Given the description of an element on the screen output the (x, y) to click on. 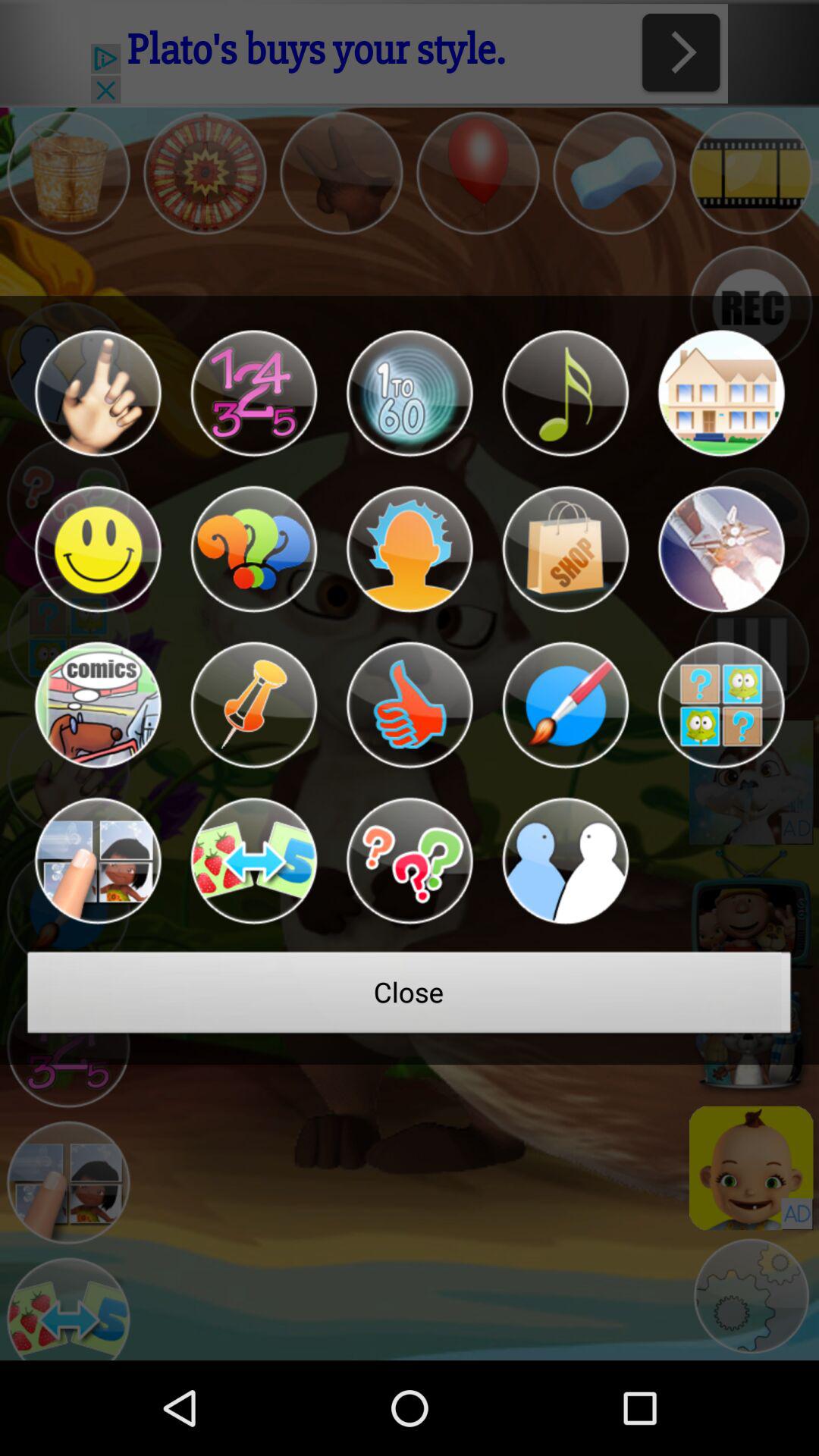
solve number problems (253, 393)
